Given the description of an element on the screen output the (x, y) to click on. 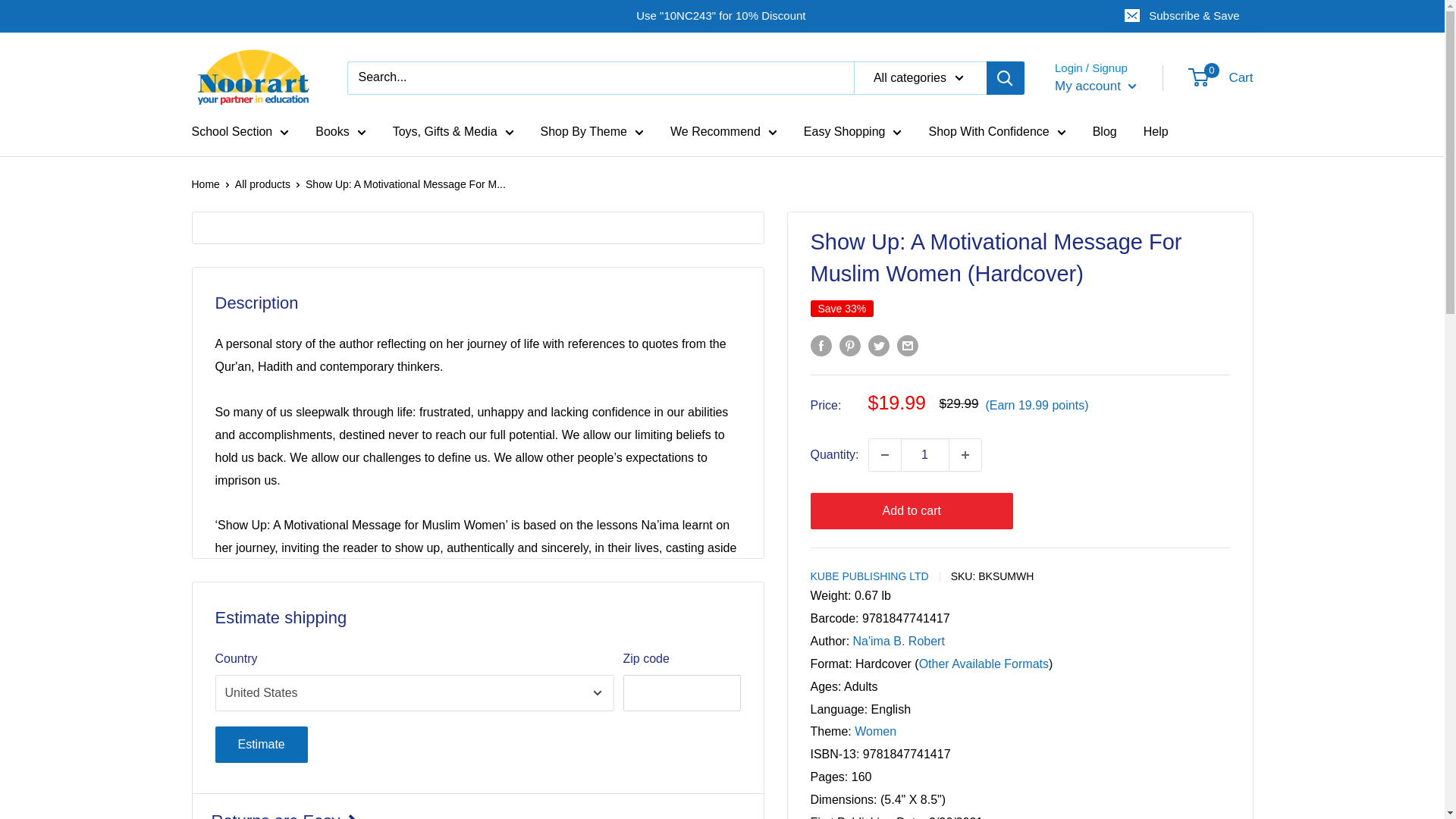
1 (925, 454)
Increase quantity by 1 (965, 454)
Decrease quantity by 1 (885, 454)
